Given the description of an element on the screen output the (x, y) to click on. 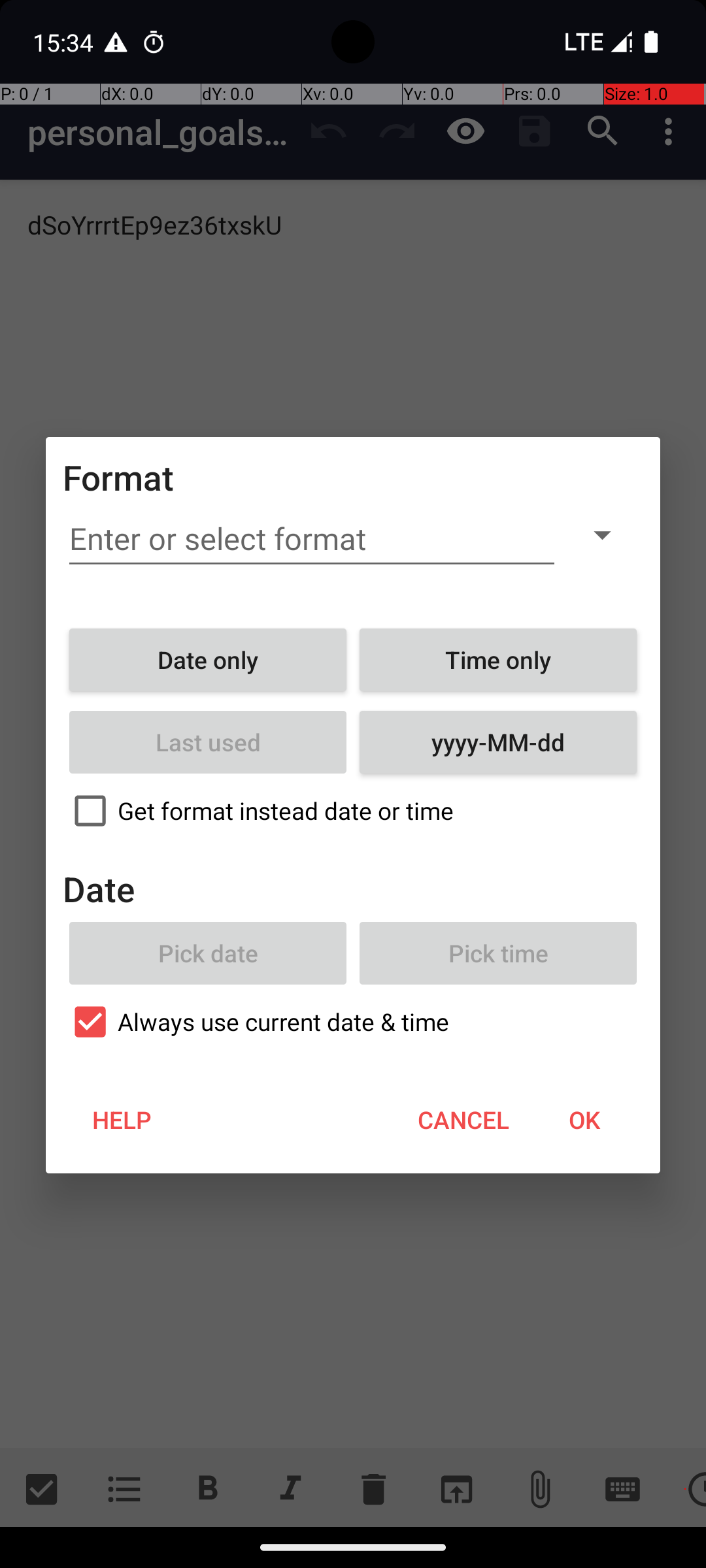
Format Element type: android.widget.TextView (118, 477)
Enter or select format Element type: android.widget.EditText (311, 538)
Choose format Element type: android.widget.TextView (601, 534)
Date only Element type: android.widget.Button (207, 659)
Time only Element type: android.widget.Button (498, 659)
Last used Element type: android.widget.Button (207, 742)
yyyy-MM-dd Element type: android.widget.Button (498, 742)
Get format instead date or time Element type: android.widget.CheckBox (352, 810)
Pick date Element type: android.widget.Button (207, 953)
Pick time Element type: android.widget.Button (498, 953)
Always use current date & time Element type: android.widget.CheckBox (352, 1021)
HELP Element type: android.widget.Button (121, 1119)
